Given the description of an element on the screen output the (x, y) to click on. 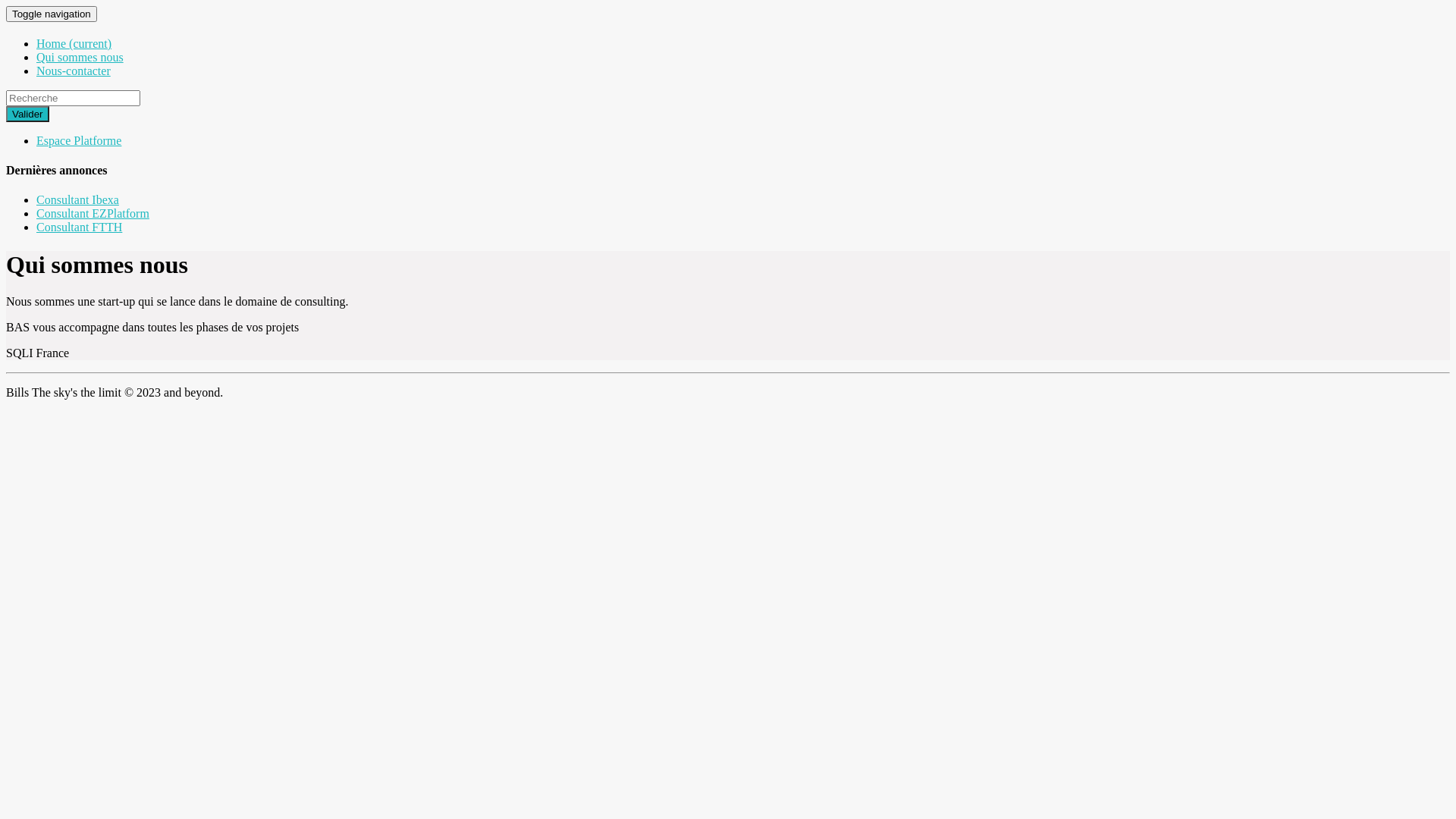
Consultant EZPlatform Element type: text (92, 213)
Consultant Ibexa Element type: text (77, 199)
Toggle navigation Element type: text (51, 13)
Nous-contacter Element type: text (73, 70)
Home (current) Element type: text (73, 43)
Consultant FTTH Element type: text (79, 226)
Qui sommes nous Element type: text (79, 56)
Valider Element type: text (27, 114)
Espace Platforme Element type: text (78, 140)
